Given the description of an element on the screen output the (x, y) to click on. 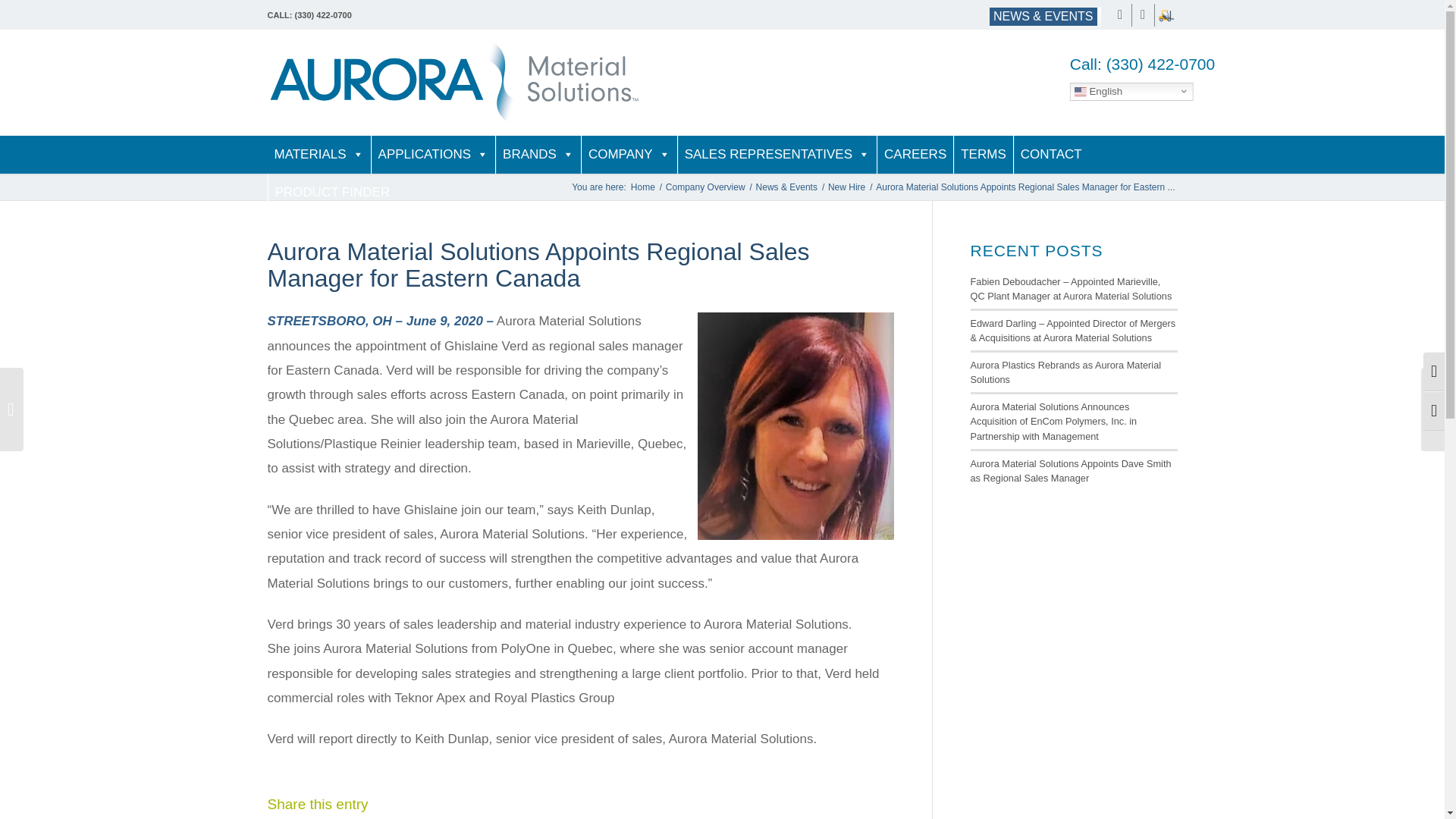
English (1131, 90)
